Given the description of an element on the screen output the (x, y) to click on. 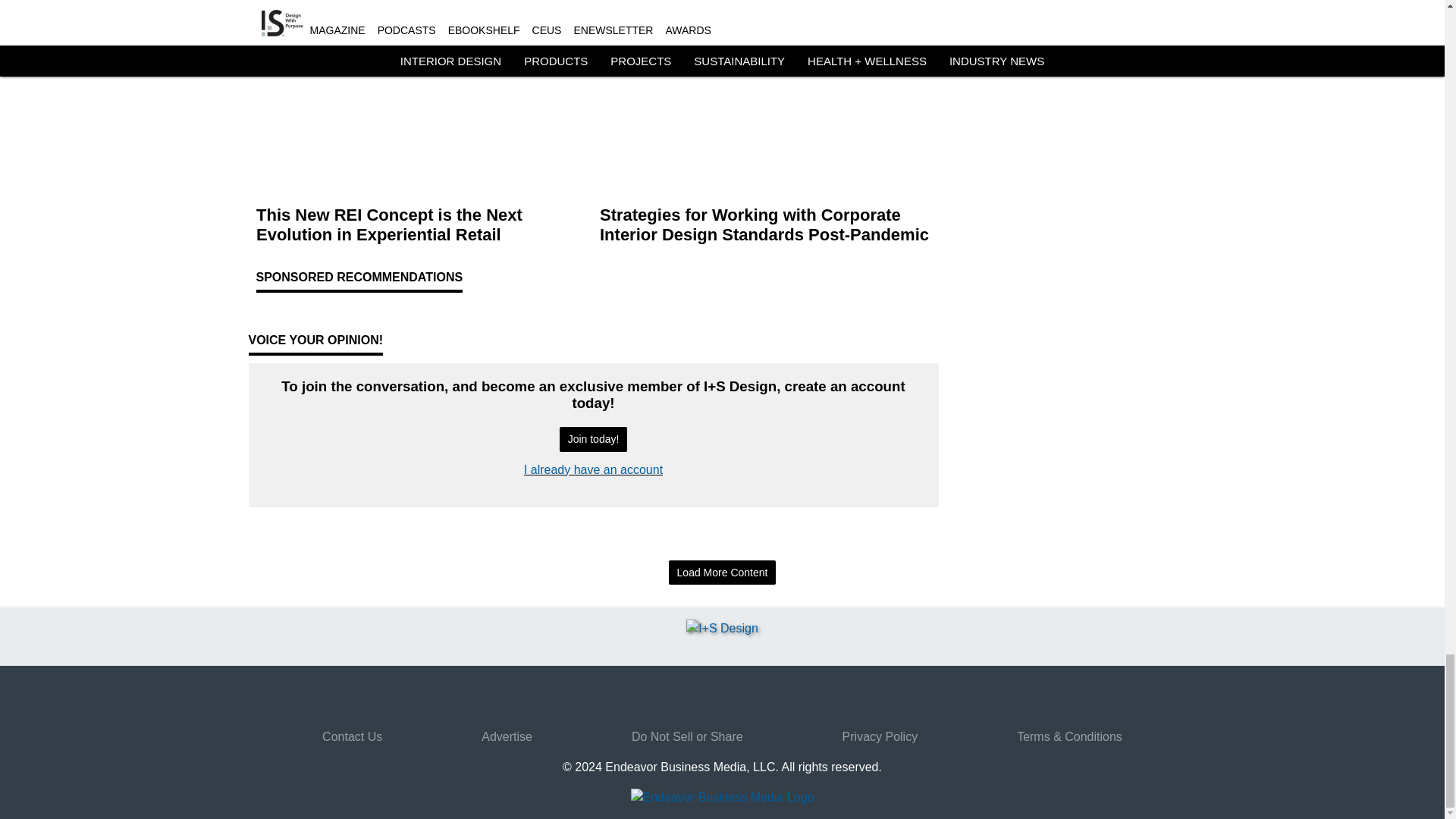
I already have an account (593, 469)
Join today! (593, 439)
